Given the description of an element on the screen output the (x, y) to click on. 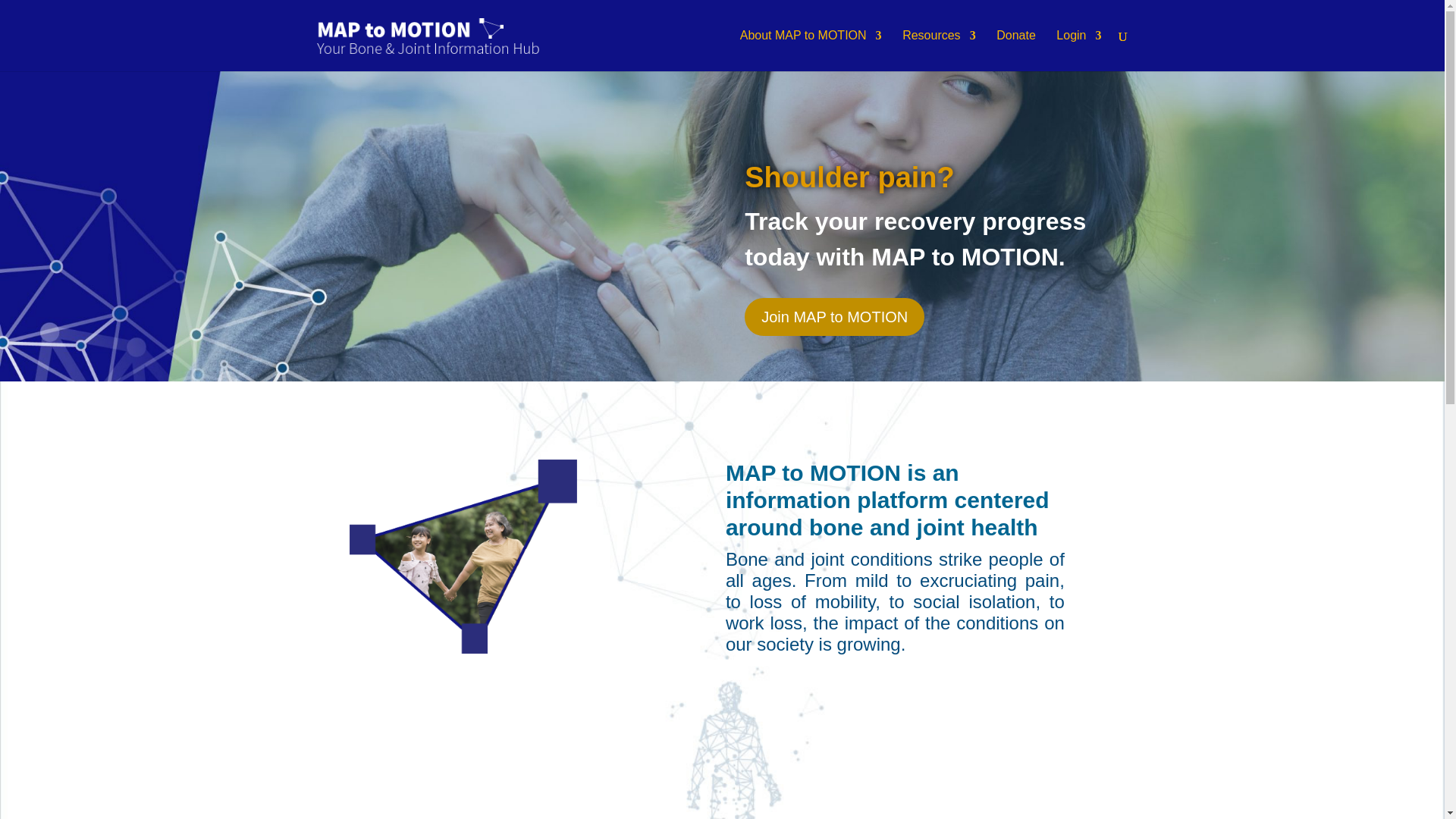
Donate (1015, 50)
Login (1078, 50)
Resources (938, 50)
About MAP to MOTION (810, 50)
Join MAP to MOTION (834, 316)
